Given the description of an element on the screen output the (x, y) to click on. 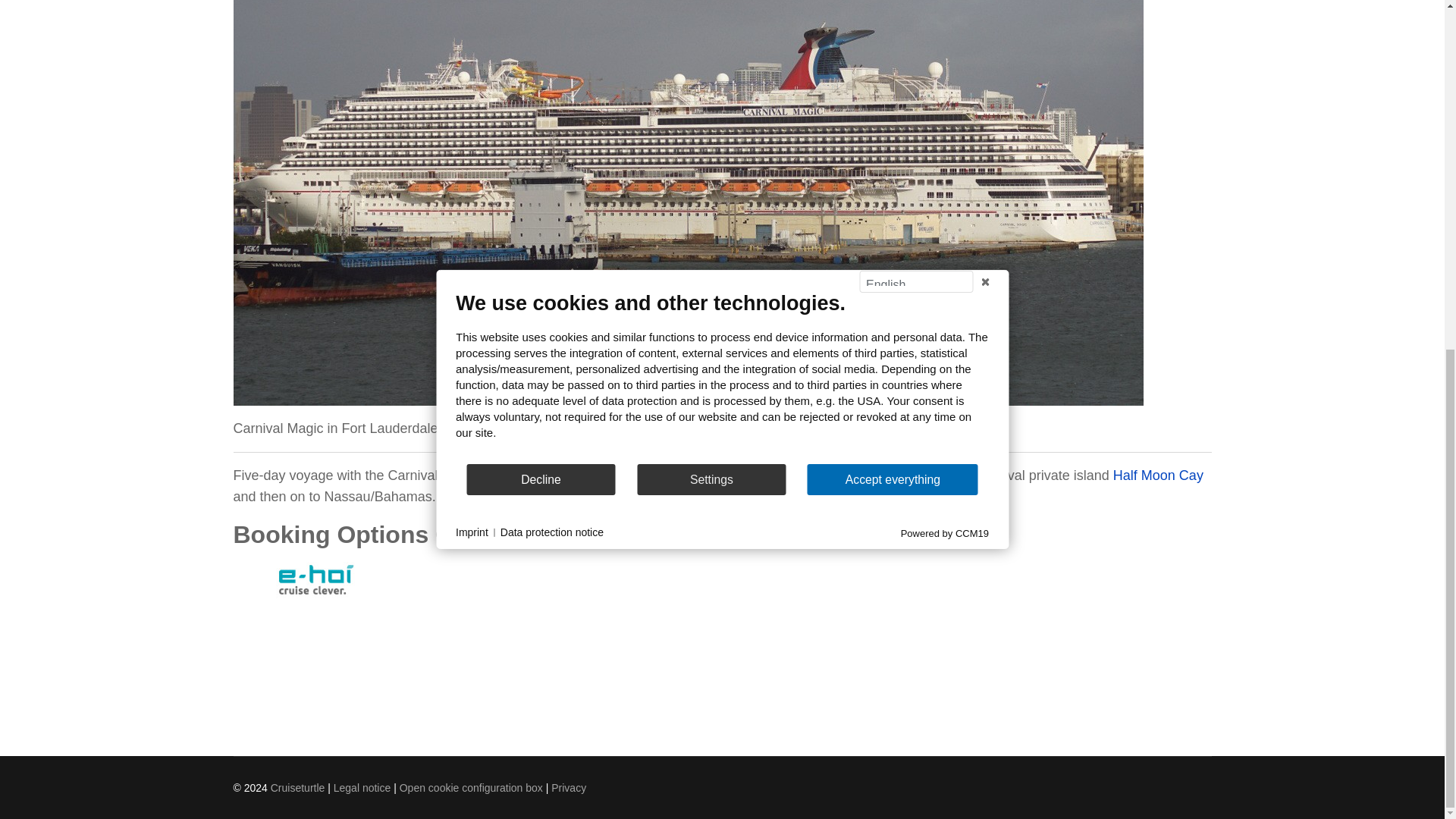
Legal notice (362, 787)
Open cookie configuration box (470, 787)
Half Moon Cay (1158, 475)
Cruiseturtle (297, 787)
Privacy (568, 787)
